Given the description of an element on the screen output the (x, y) to click on. 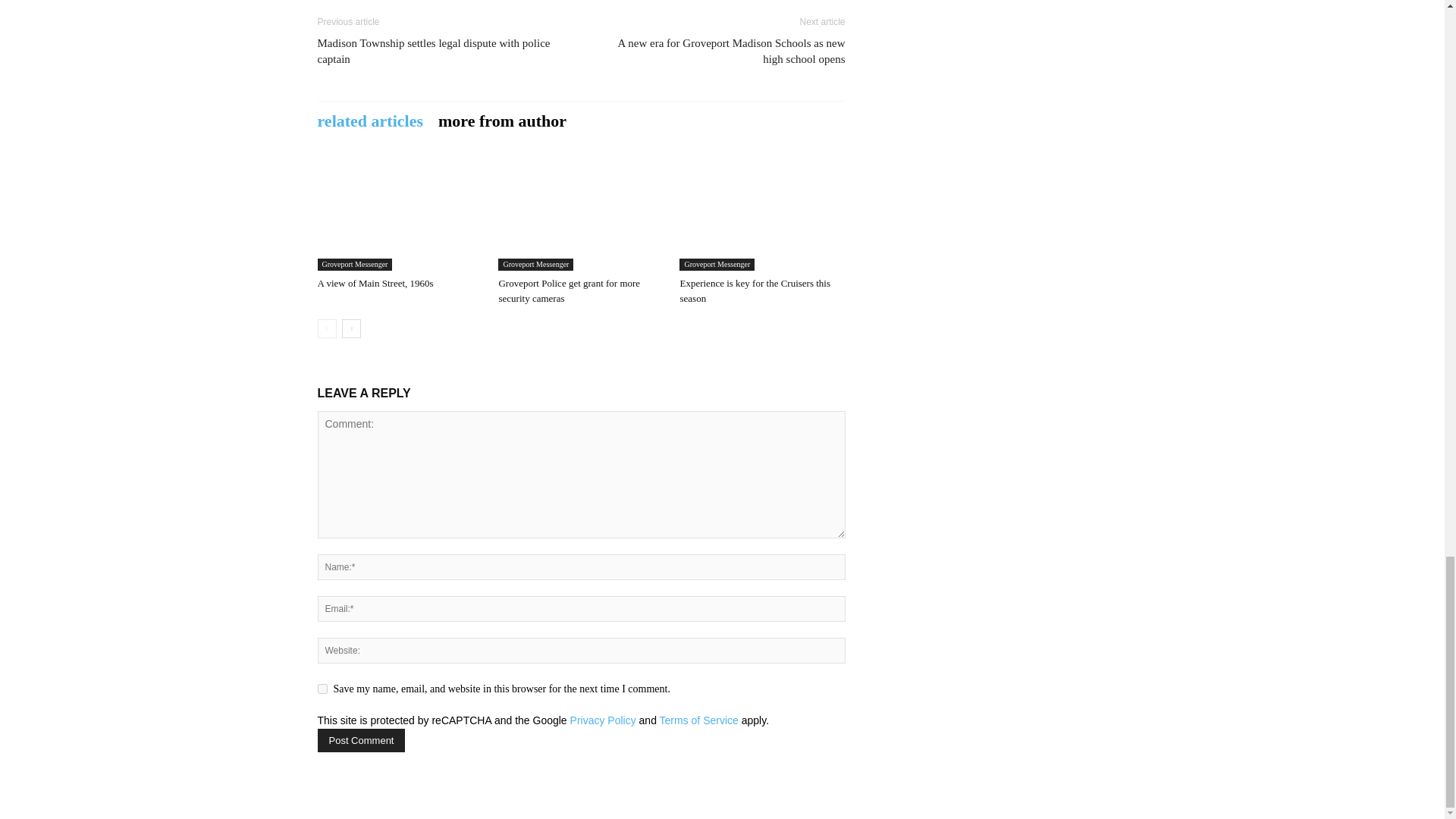
A view of Main Street, 1960s (374, 283)
yes (321, 688)
Groveport Police get grant for more security cameras (580, 214)
A view of Main Street, 1960s (399, 214)
Post Comment (360, 740)
